Given the description of an element on the screen output the (x, y) to click on. 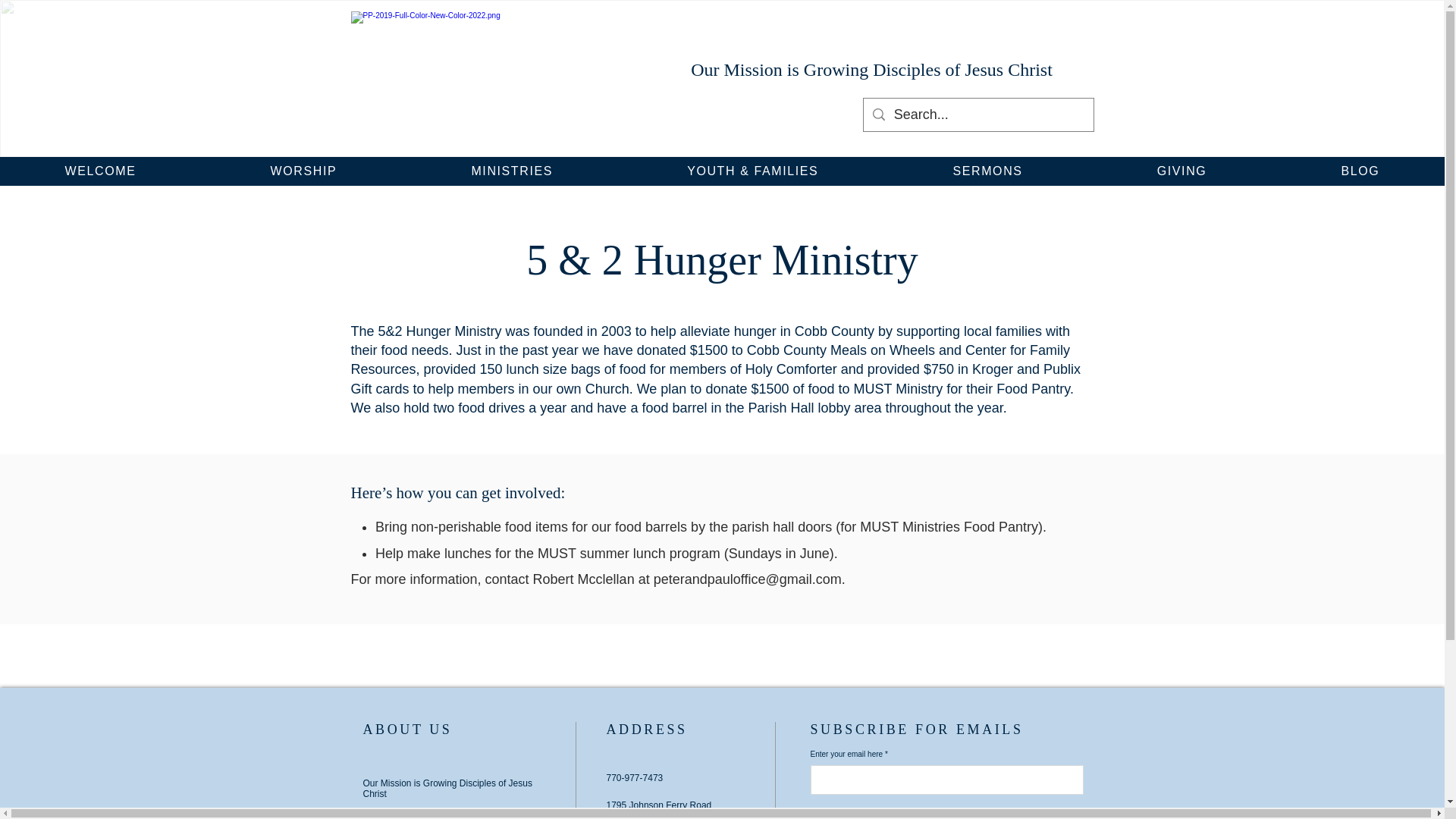
MINISTRIES (511, 171)
GIVING (1181, 171)
SERMONS (987, 171)
BLOG (1360, 171)
WORSHIP (303, 171)
WELCOME (100, 171)
